Given the description of an element on the screen output the (x, y) to click on. 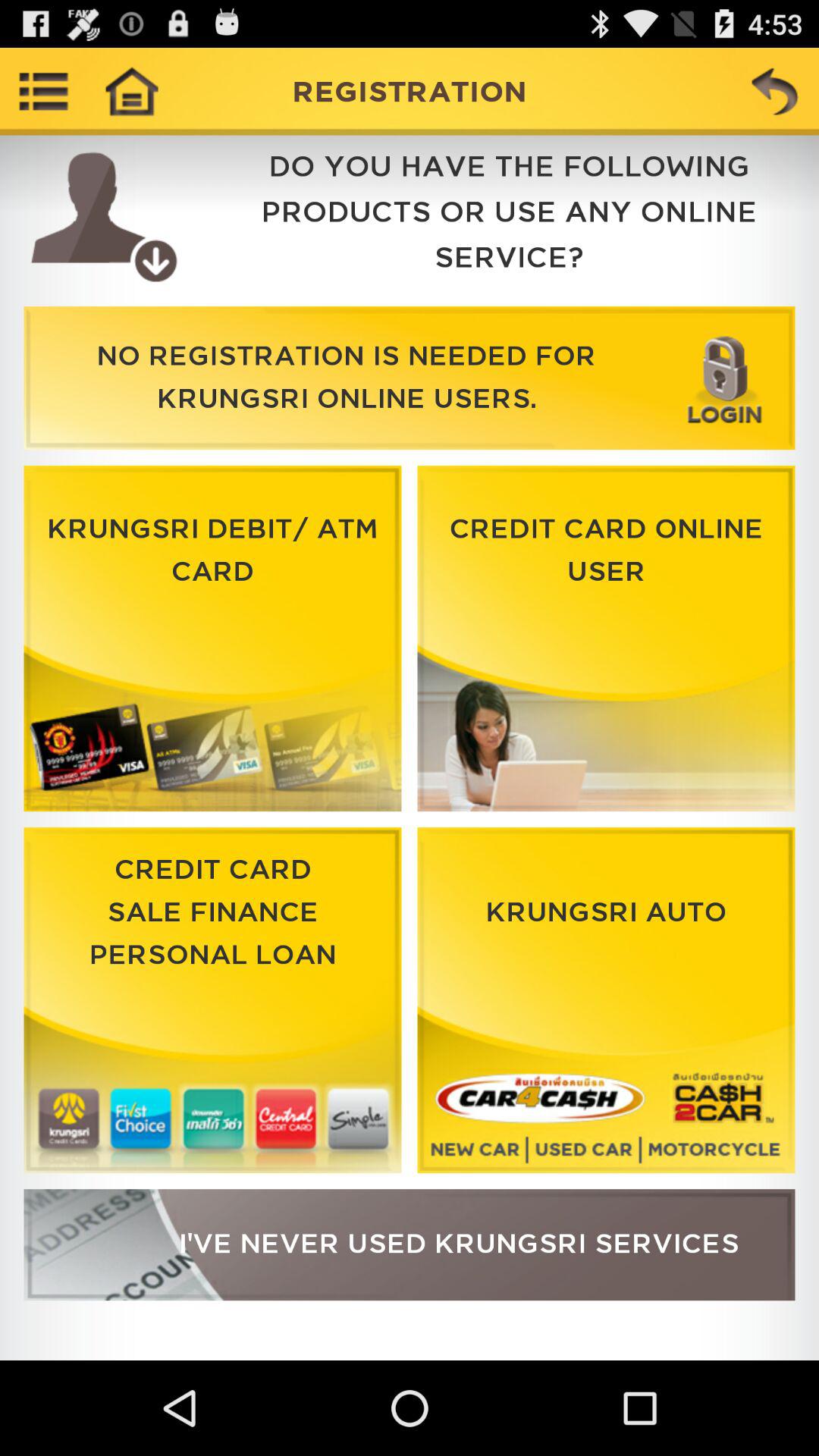
more options (43, 91)
